Given the description of an element on the screen output the (x, y) to click on. 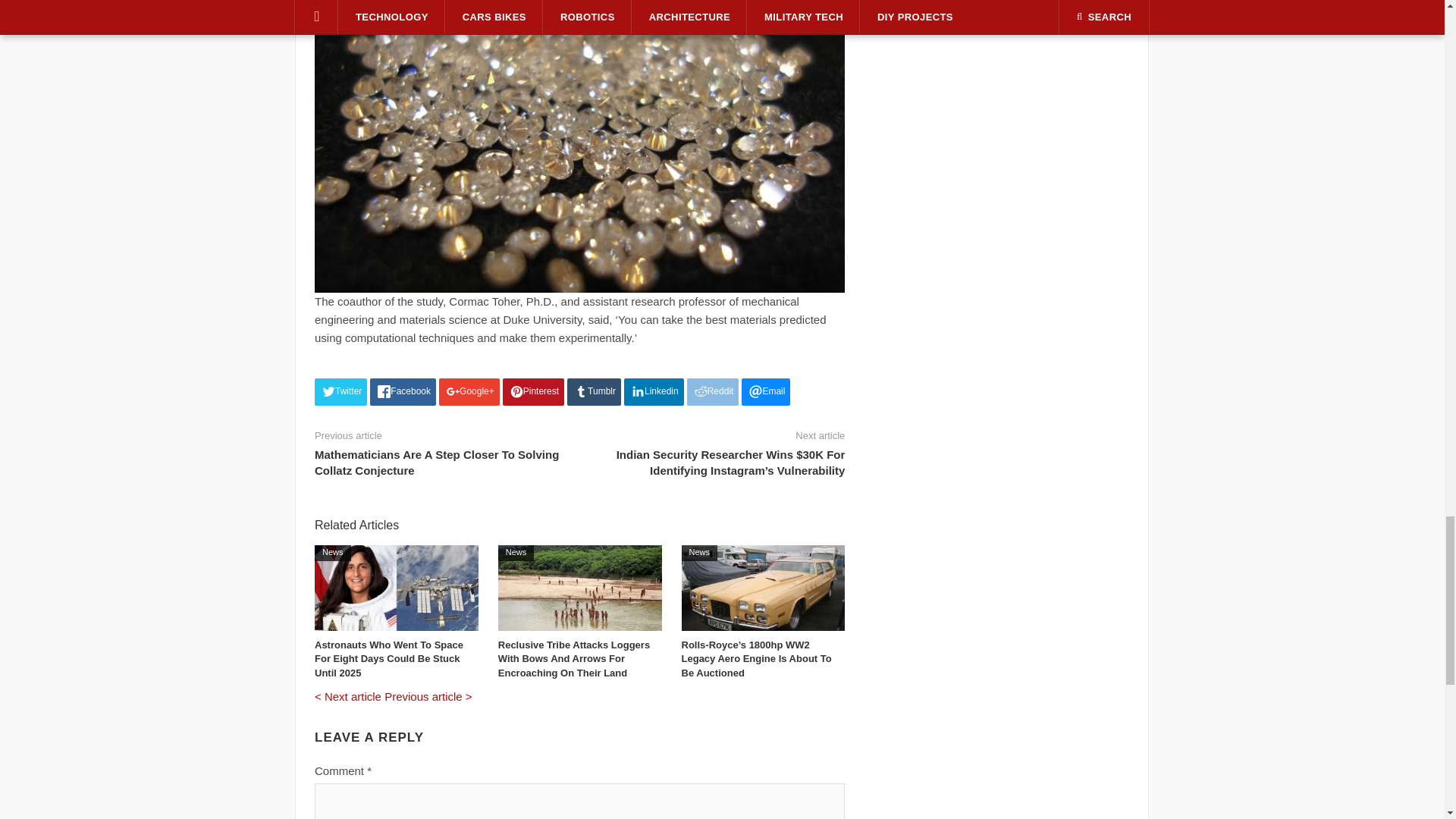
Email (765, 391)
Linkedin (654, 391)
Pinterest (533, 391)
Tumblr (594, 391)
Facebook (402, 391)
Reddit (713, 391)
Twitter (340, 391)
